Given the description of an element on the screen output the (x, y) to click on. 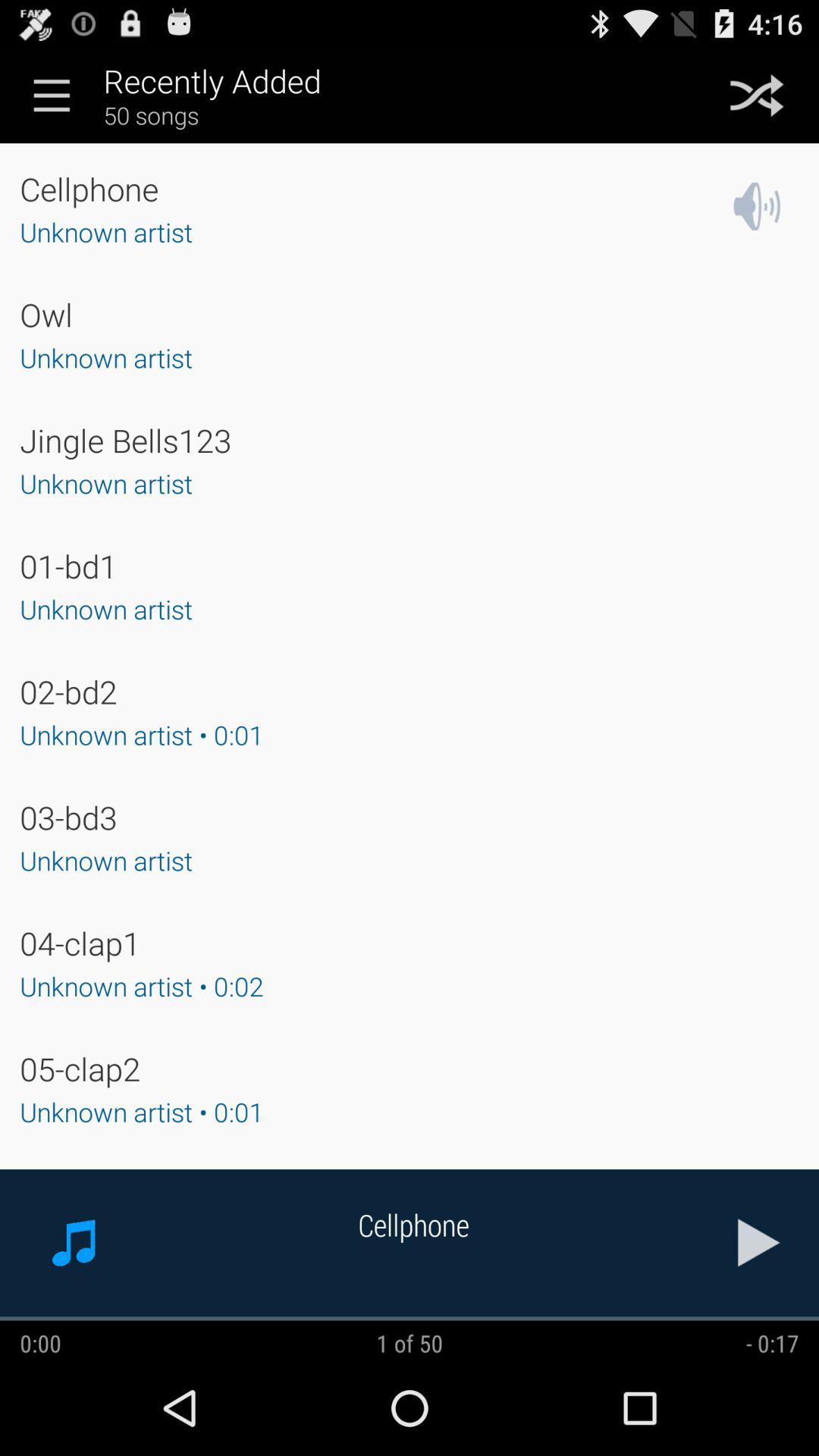
swipe to the jingle bells123 (125, 439)
